Given the description of an element on the screen output the (x, y) to click on. 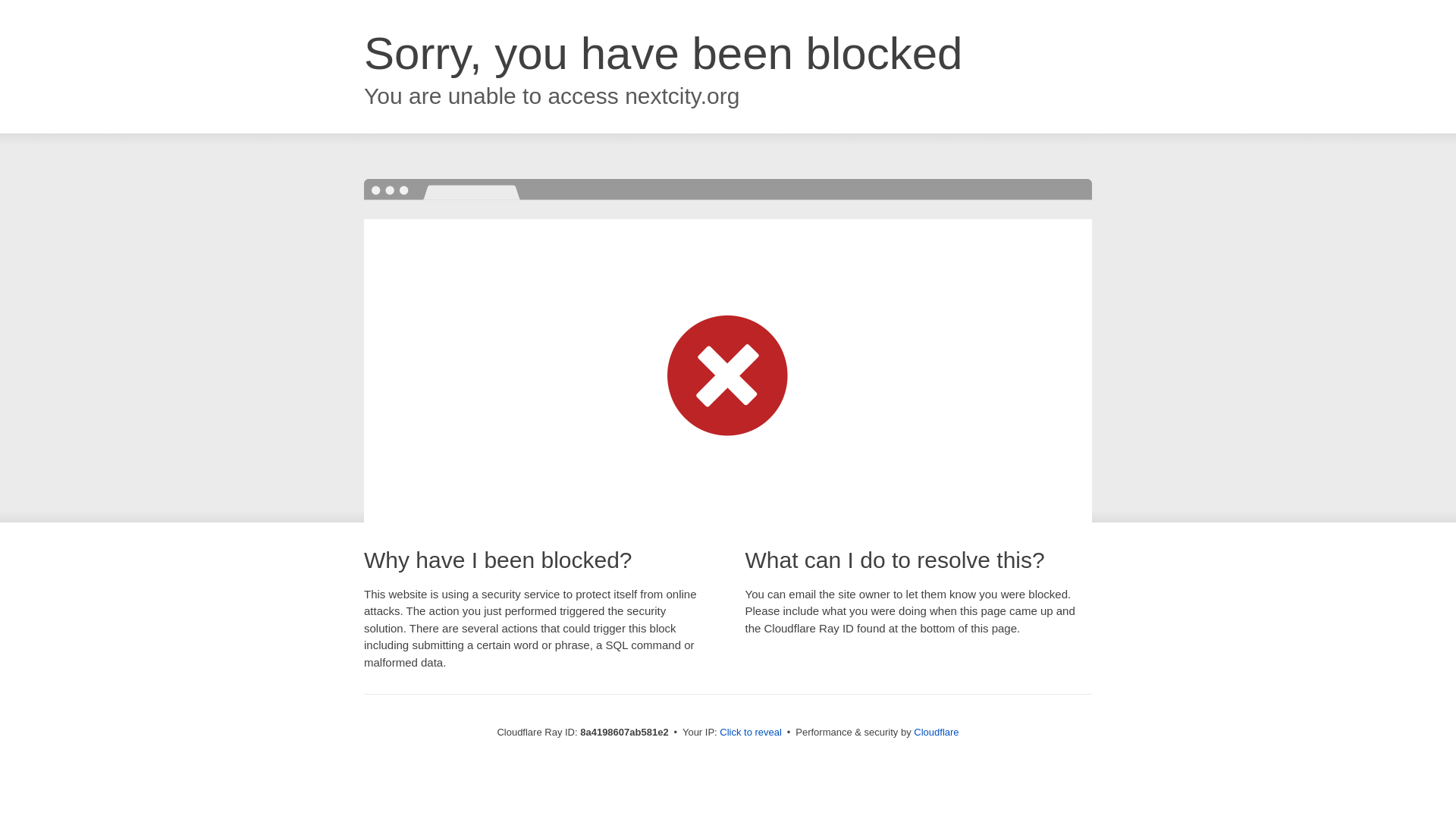
Cloudflare (936, 731)
Click to reveal (750, 732)
